Given the description of an element on the screen output the (x, y) to click on. 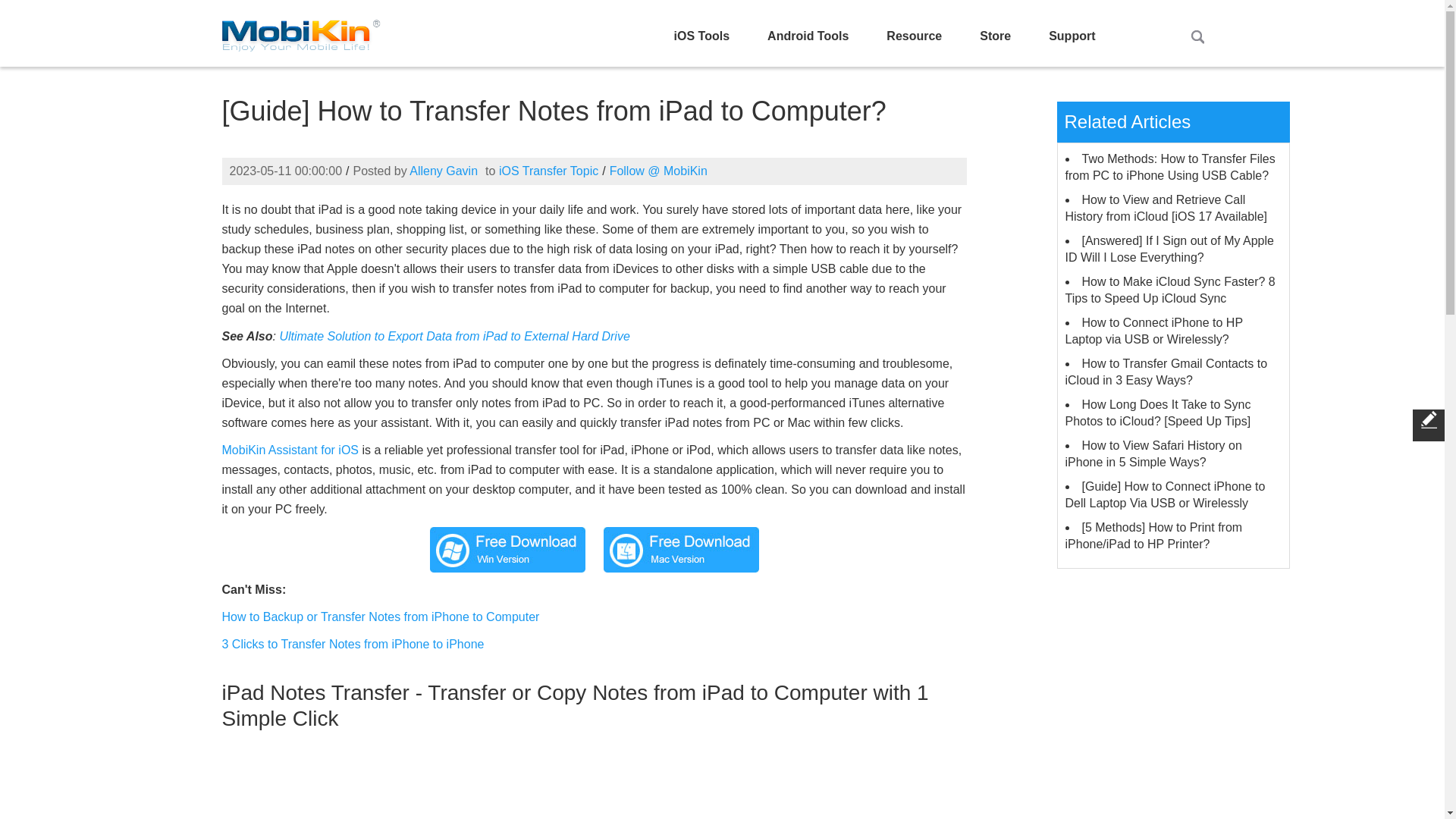
How to Connect iPhone to HP Laptop via USB or Wirelessly? (1152, 330)
MobiKin Assistant for iOS (289, 449)
iOS Tools (701, 36)
Store (994, 36)
iOS Transfer Topic (548, 170)
Support (1071, 36)
Resource (914, 36)
Alleny Gavin (443, 170)
How to View Safari History on iPhone in 5 Simple Ways? (1152, 453)
How to Backup or Transfer Notes from iPhone to Computer (379, 616)
How to Transfer Gmail Contacts to iCloud in 3 Easy Ways? (1165, 371)
Home (300, 31)
3 Clicks to Transfer Notes from iPhone to iPhone (352, 644)
